Given the description of an element on the screen output the (x, y) to click on. 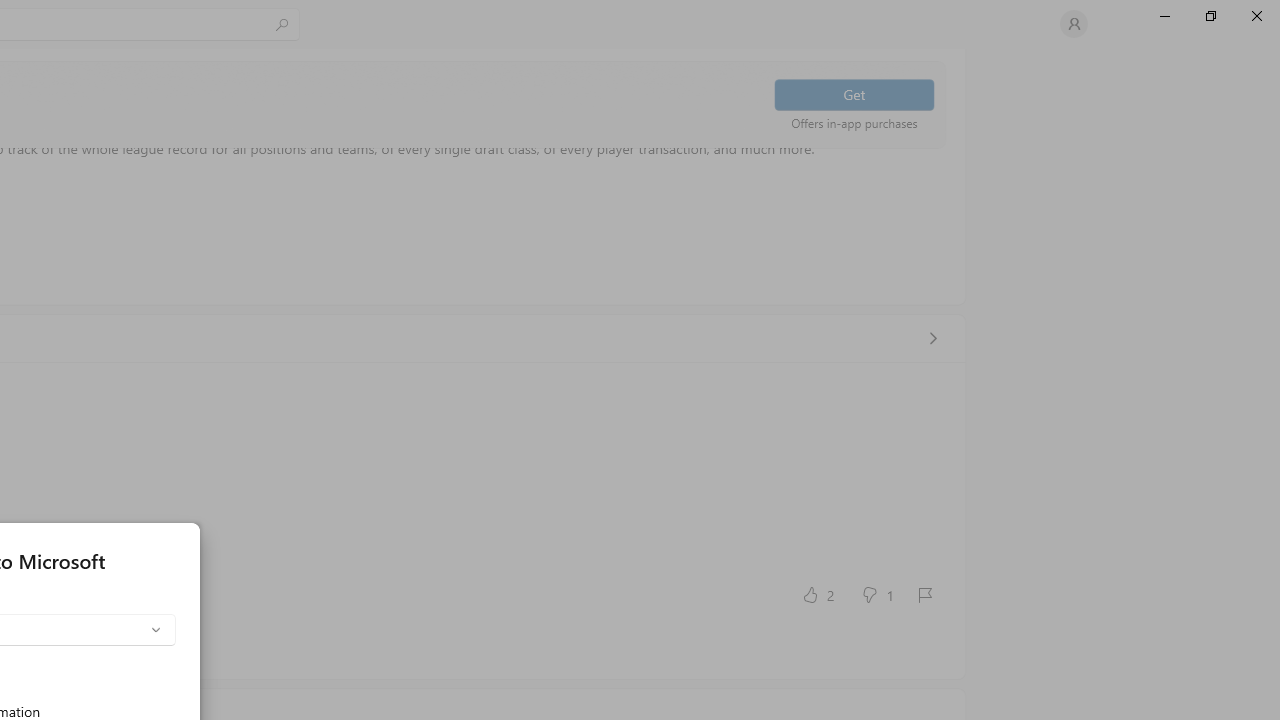
Yes, this was helpful. 2 votes. (816, 593)
Show all ratings and reviews (932, 337)
User profile (1073, 24)
Get (854, 94)
Restore Microsoft Store (1210, 15)
No, this was not helpful. 1 votes. (875, 593)
Minimize Microsoft Store (1164, 15)
Report review (924, 594)
Close Microsoft Store (1256, 15)
